Given the description of an element on the screen output the (x, y) to click on. 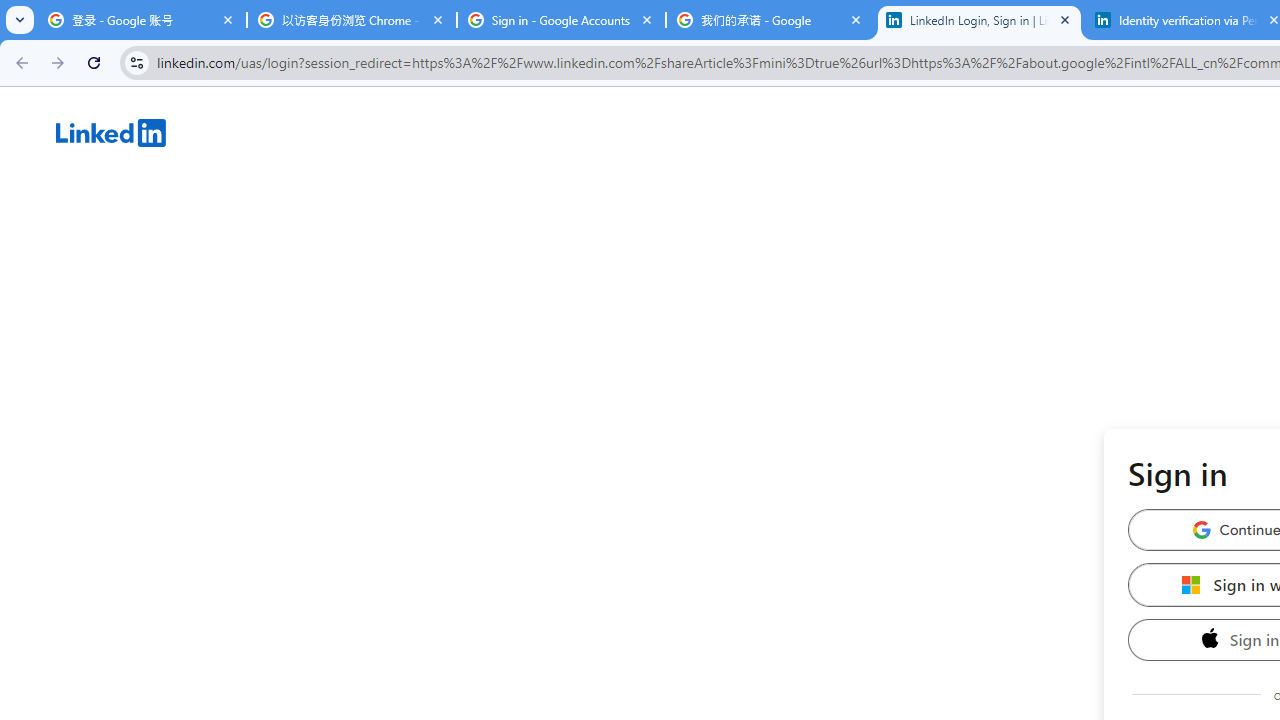
Sign in - Google Accounts (561, 20)
Microsoft (1191, 583)
AutomationID: linkedin-logo (111, 132)
LinkedIn Login, Sign in | LinkedIn (979, 20)
